Given the description of an element on the screen output the (x, y) to click on. 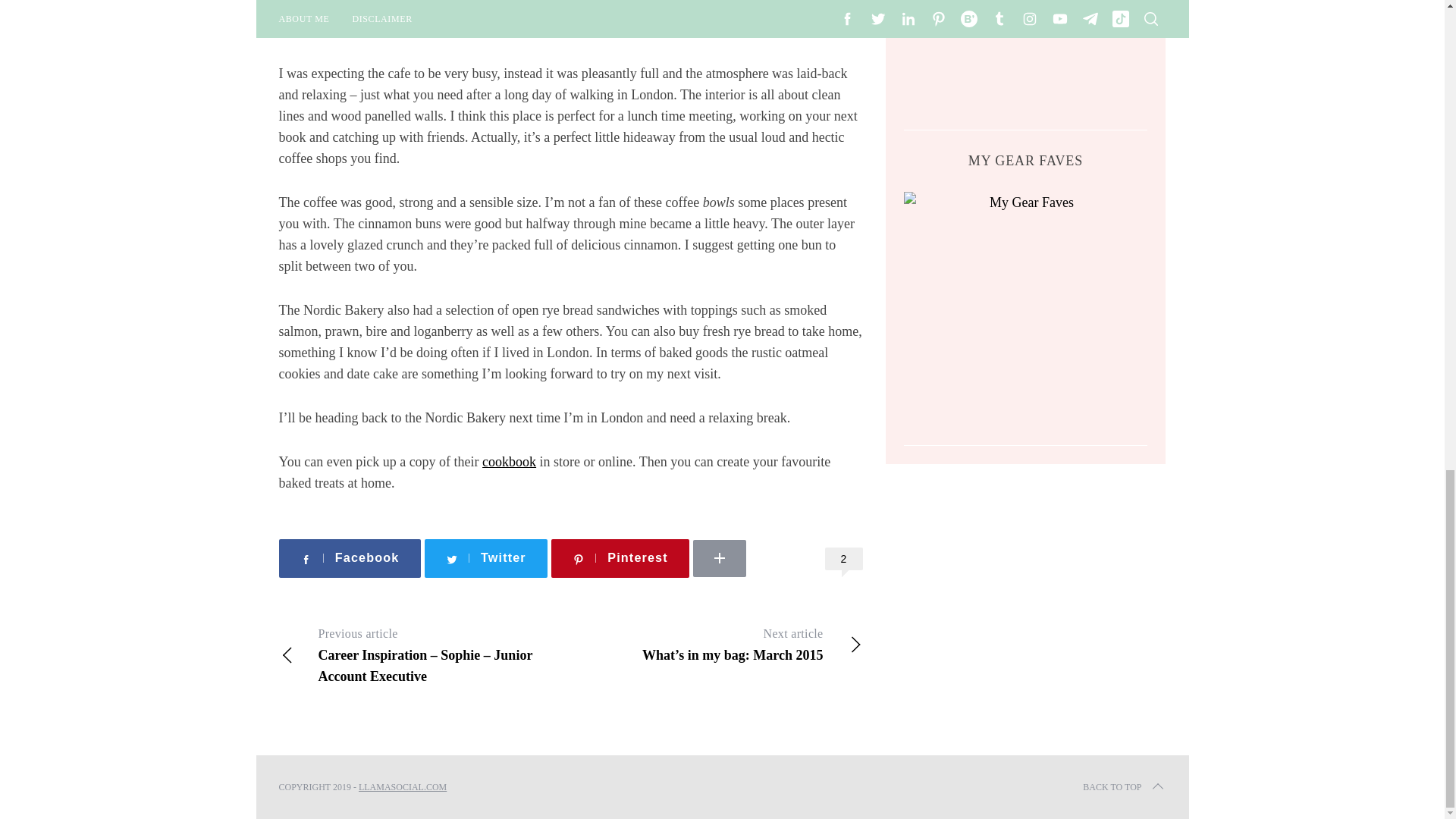
Facebook (349, 558)
2 (844, 558)
cookbook (508, 461)
Pinterest (619, 558)
LLAMASOCIAL.COM (402, 787)
LINKEDIN (764, 534)
Twitter (486, 558)
